Given the description of an element on the screen output the (x, y) to click on. 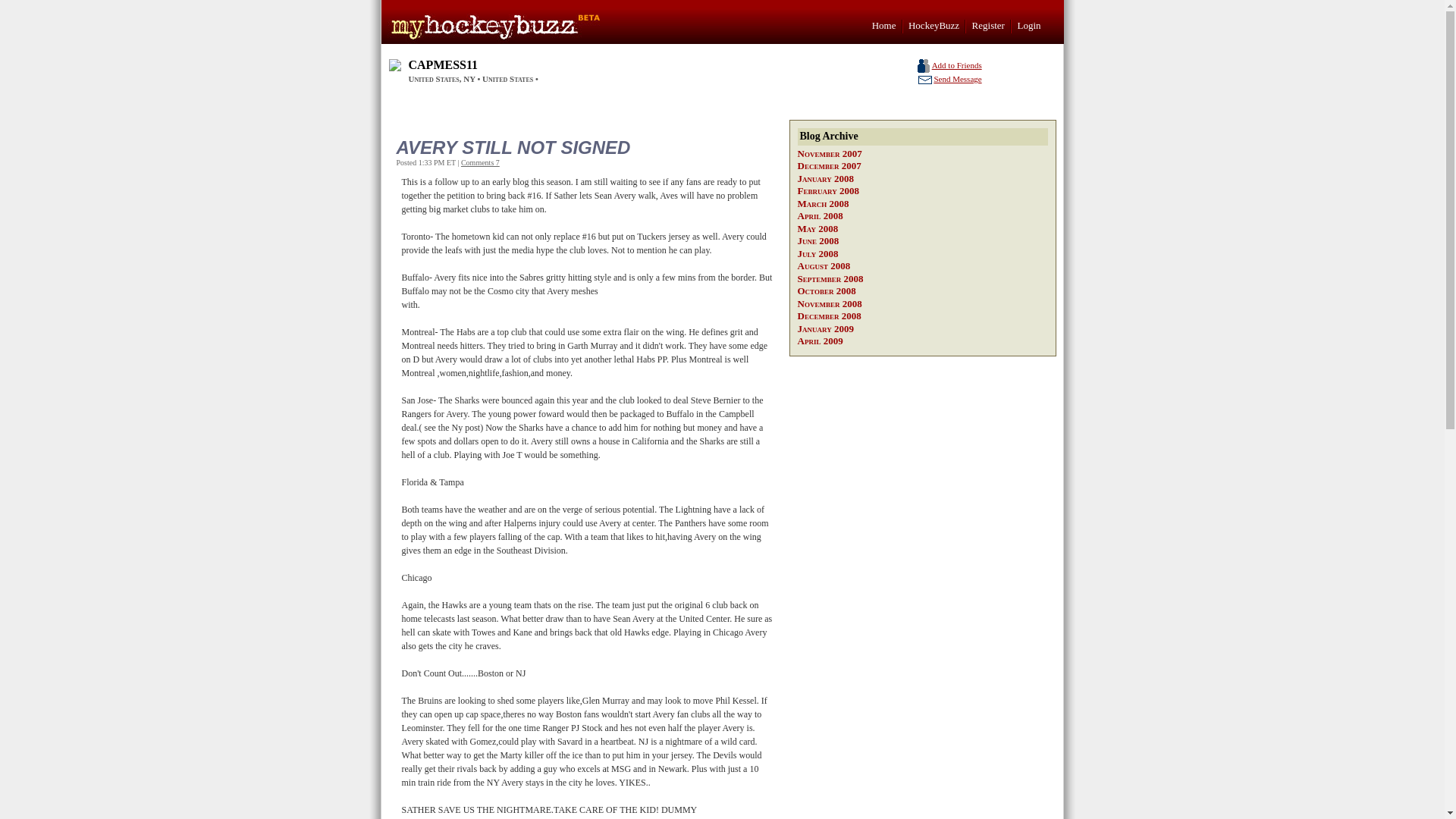
AVERY STILL NOT SIGNED (581, 147)
CAPMESS11 (442, 64)
Add to Friends (956, 64)
Comments 7 (480, 162)
Send Message (957, 78)
Home (884, 25)
Register (988, 25)
Login (1028, 25)
HockeyBuzz (933, 25)
